Given the description of an element on the screen output the (x, y) to click on. 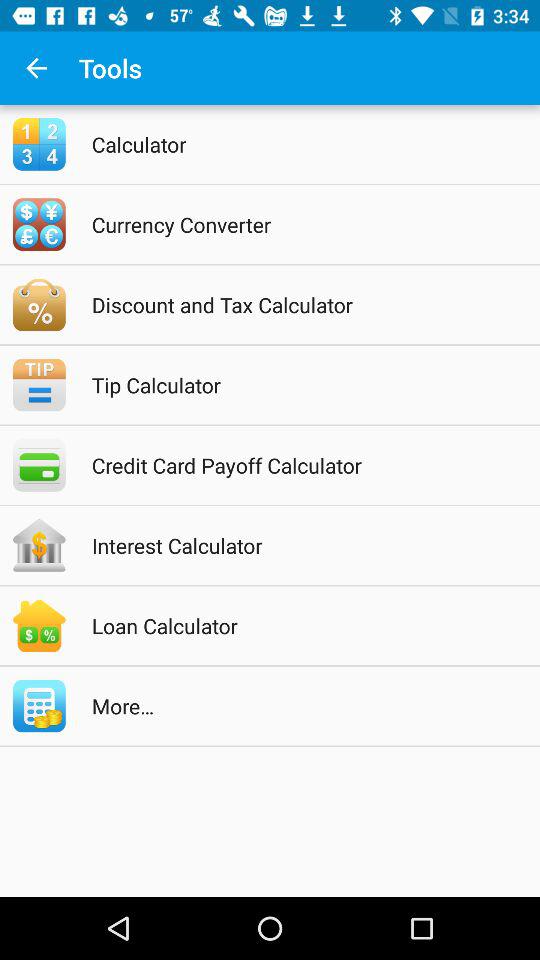
choose the currency converter (295, 224)
